Given the description of an element on the screen output the (x, y) to click on. 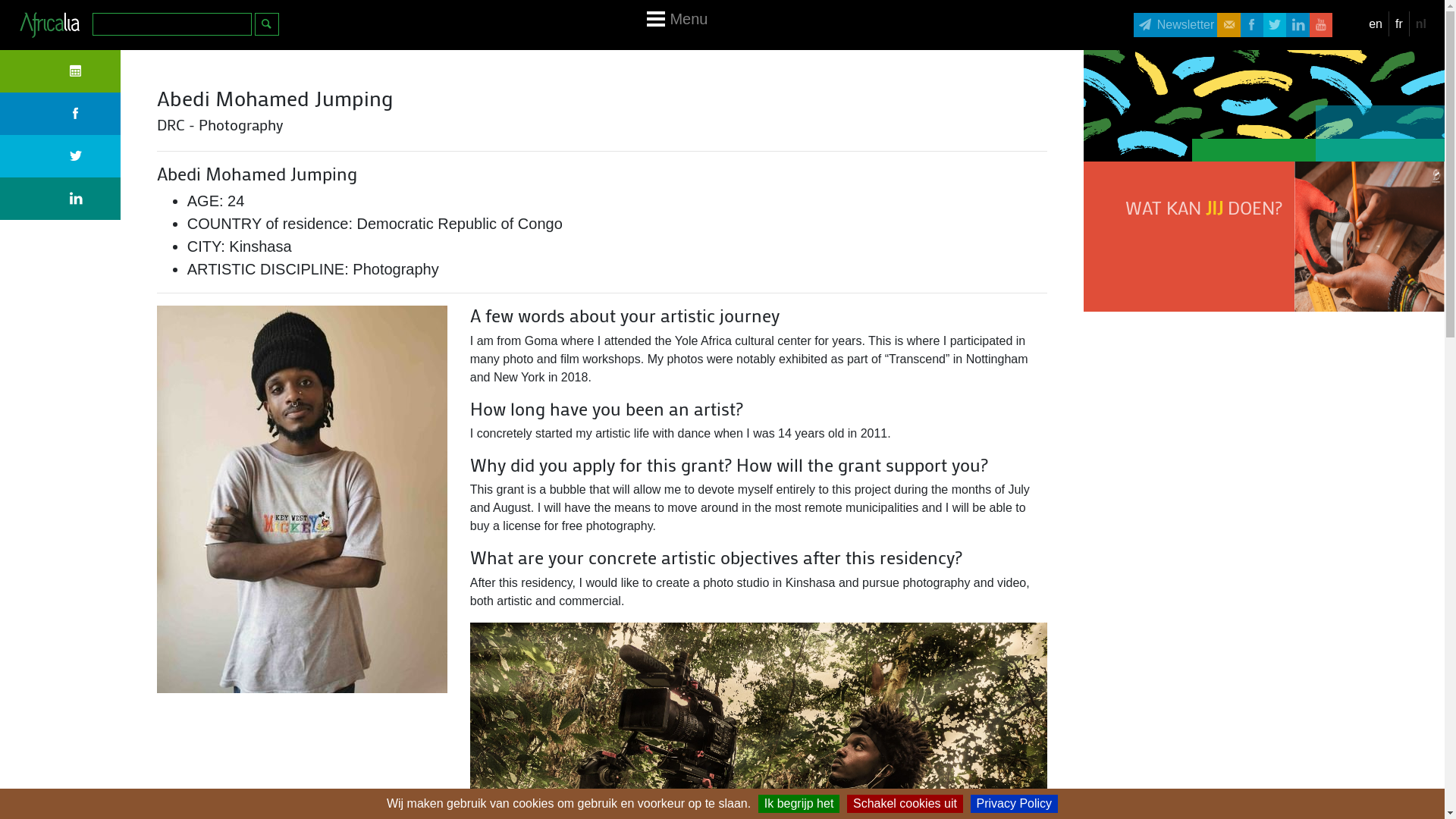
Contact Element type: text (648, 767)
Linkedin Element type: hover (60, 198)
Menu Element type: text (688, 24)
Ik begrijp het Element type: text (799, 803)
Schakel cookies uit Element type: text (905, 803)
Privacy Policy Element type: text (1014, 803)
Facebook Element type: hover (60, 113)
Zoeken Element type: hover (266, 23)
Newsletter Element type: text (1175, 24)
30 juni 2020 Element type: hover (60, 71)
Twitter Element type: hover (60, 155)
en Element type: text (1375, 23)
Banlieues asbl Element type: text (827, 703)
Archief Element type: text (712, 767)
fr Element type: text (1398, 23)
WAT KAN JIJ DOEN? Element type: text (1263, 236)
Aanmelden Element type: text (785, 767)
